Given the description of an element on the screen output the (x, y) to click on. 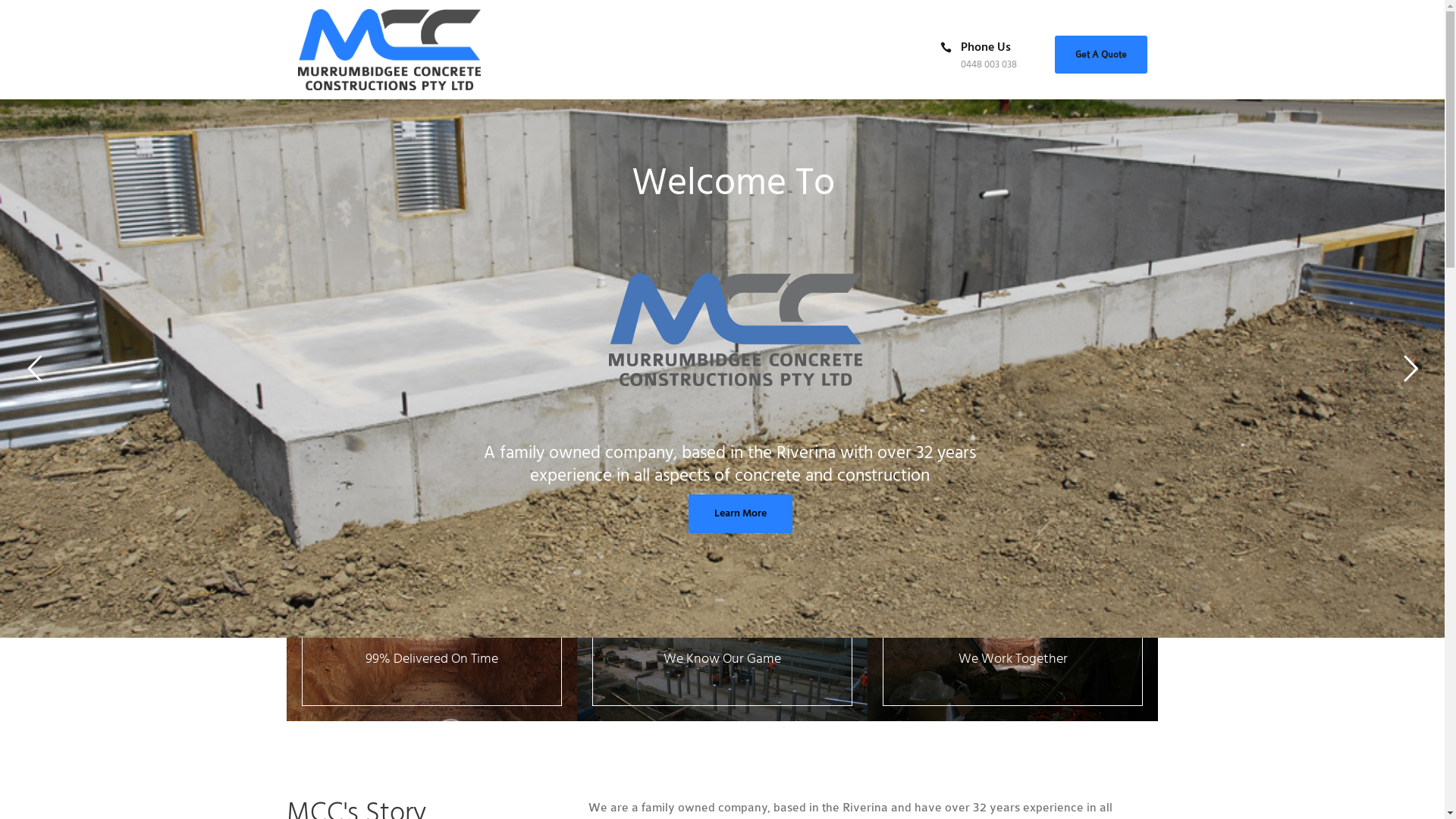
HOME Element type: text (312, 134)
WHAT WE DO Element type: text (480, 134)
Get A Quote Element type: text (1100, 53)
ABOUT US Element type: text (387, 134)
GALLERY Element type: text (572, 134)
CONTACT US Element type: text (662, 134)
